Given the description of an element on the screen output the (x, y) to click on. 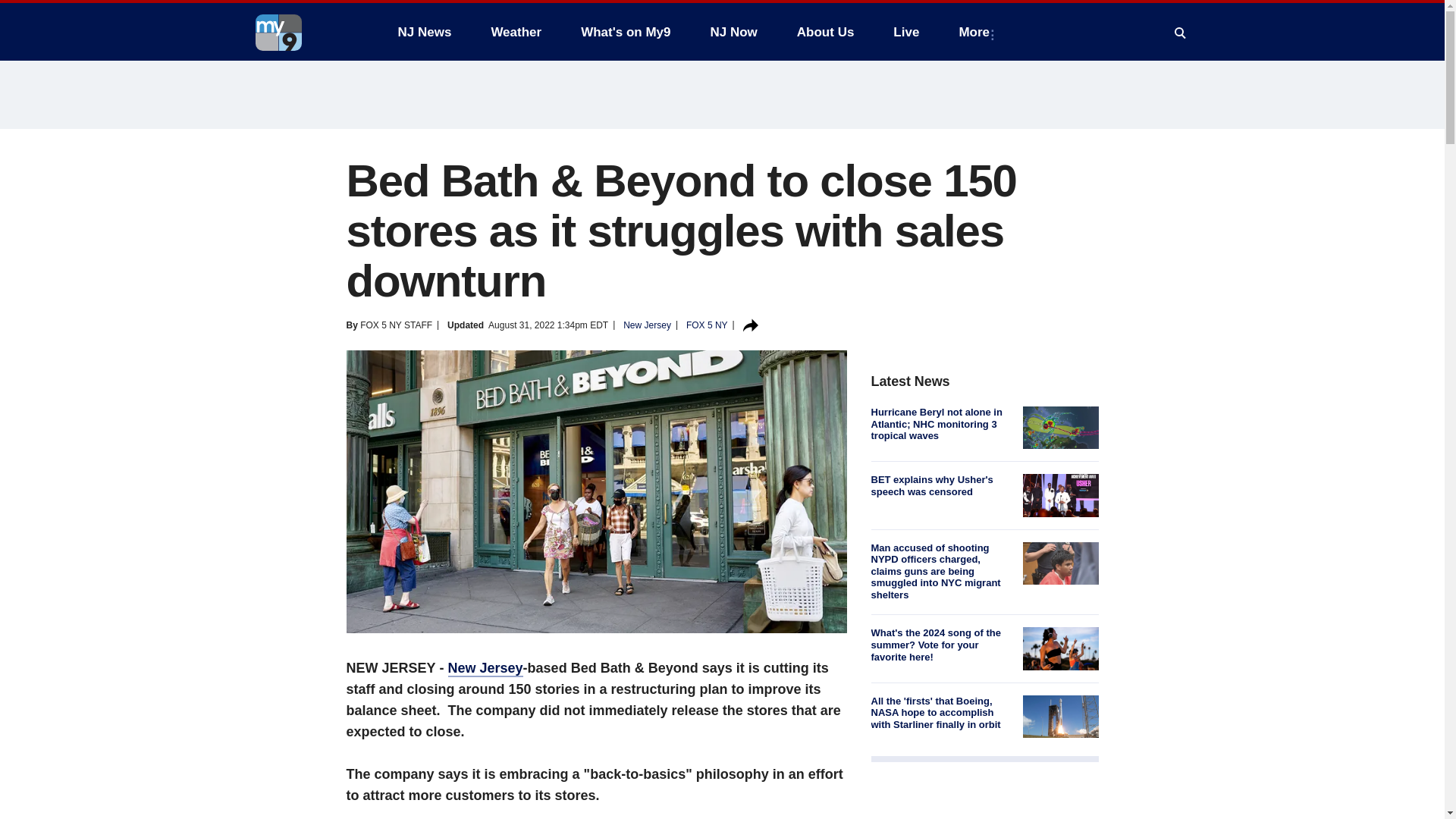
Weather (516, 32)
What's on My9 (625, 32)
More (976, 32)
About Us (825, 32)
New Jersey (647, 325)
Live (905, 32)
NJ News (424, 32)
FOX 5 NY (706, 325)
NJ Now (732, 32)
